Given the description of an element on the screen output the (x, y) to click on. 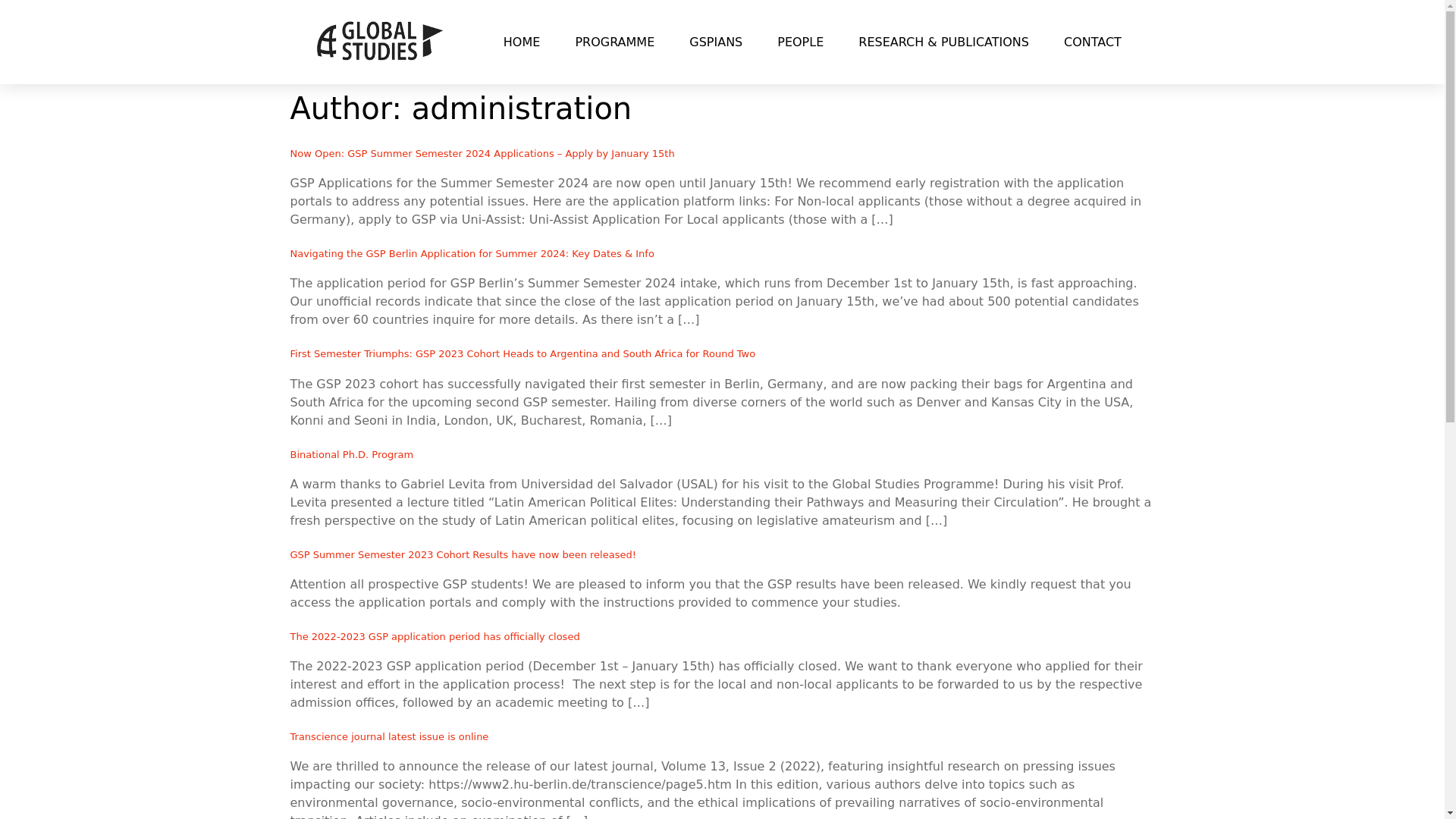
HOME (521, 41)
PEOPLE (799, 41)
Binational Ph.D. Program (351, 454)
Transcience journal latest issue is online (388, 736)
PROGRAMME (614, 41)
CONTACT (1092, 41)
The 2022-2023 GSP application period has officially closed (434, 636)
GSPIANS (715, 41)
